Given the description of an element on the screen output the (x, y) to click on. 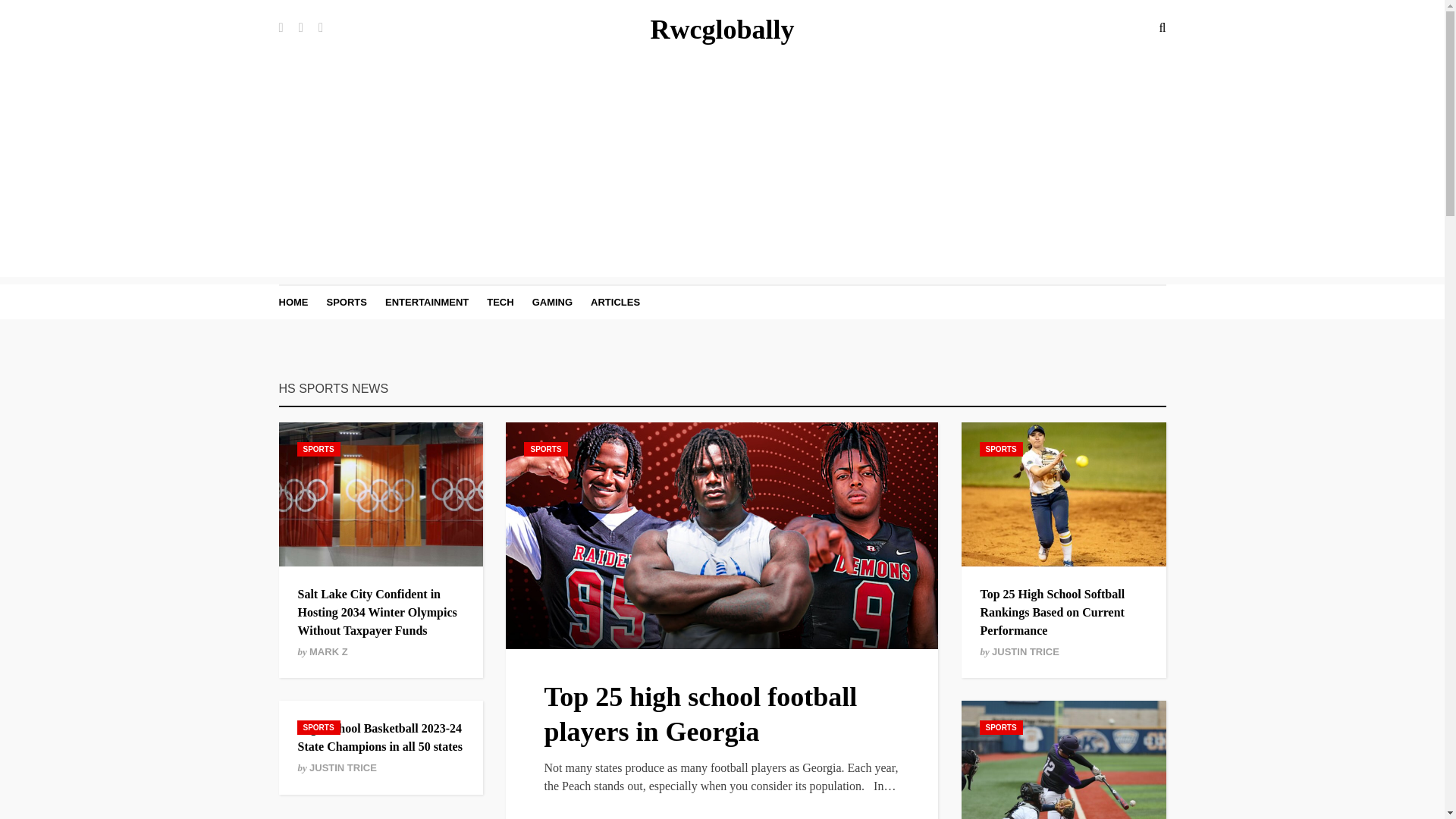
MARK Z (327, 651)
SPORTS (1001, 449)
SPORTS (318, 727)
Rwcglobally (721, 29)
SPORTS (346, 302)
SPORTS (318, 449)
GAMING (552, 302)
JUSTIN TRICE (342, 767)
